Given the description of an element on the screen output the (x, y) to click on. 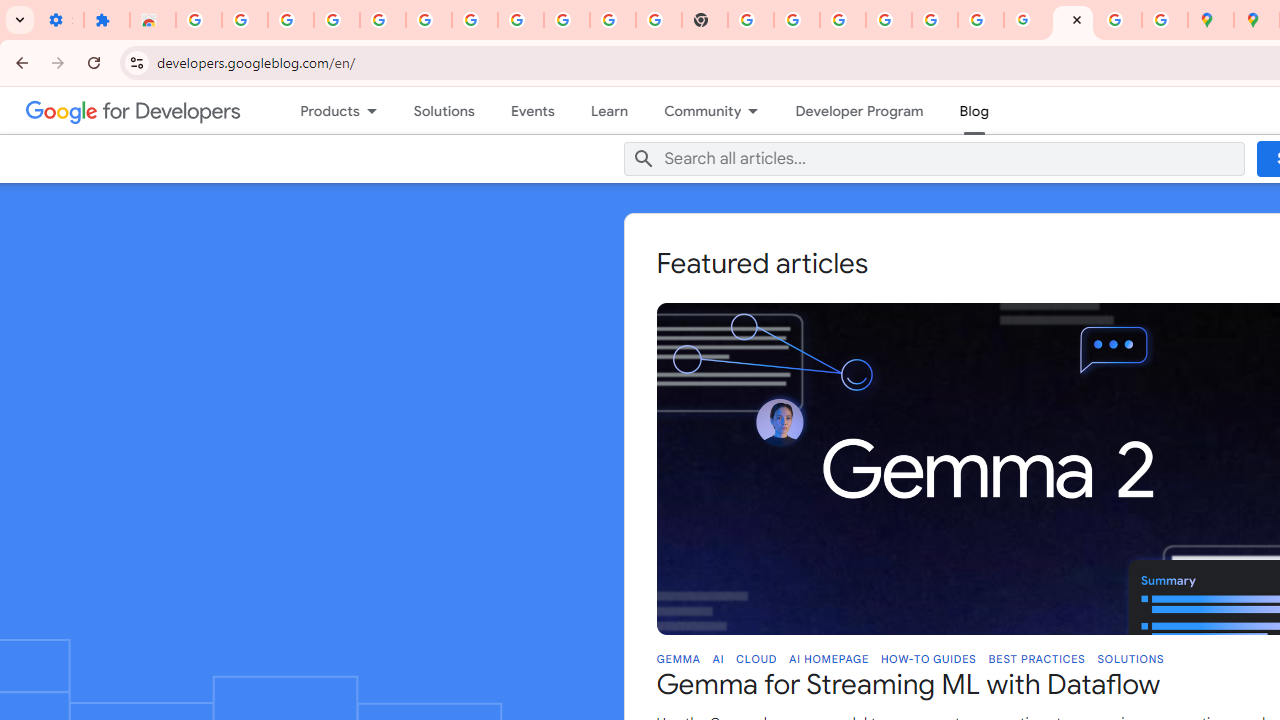
Dropdown menu for Community (759, 110)
Safety in Our Products - Google Safety Center (1164, 20)
Delete photos & videos - Computer - Google Photos Help (336, 20)
Reviews: Helix Fruit Jump Arcade Game (153, 20)
Dropdown menu for Products (376, 110)
